Given the description of an element on the screen output the (x, y) to click on. 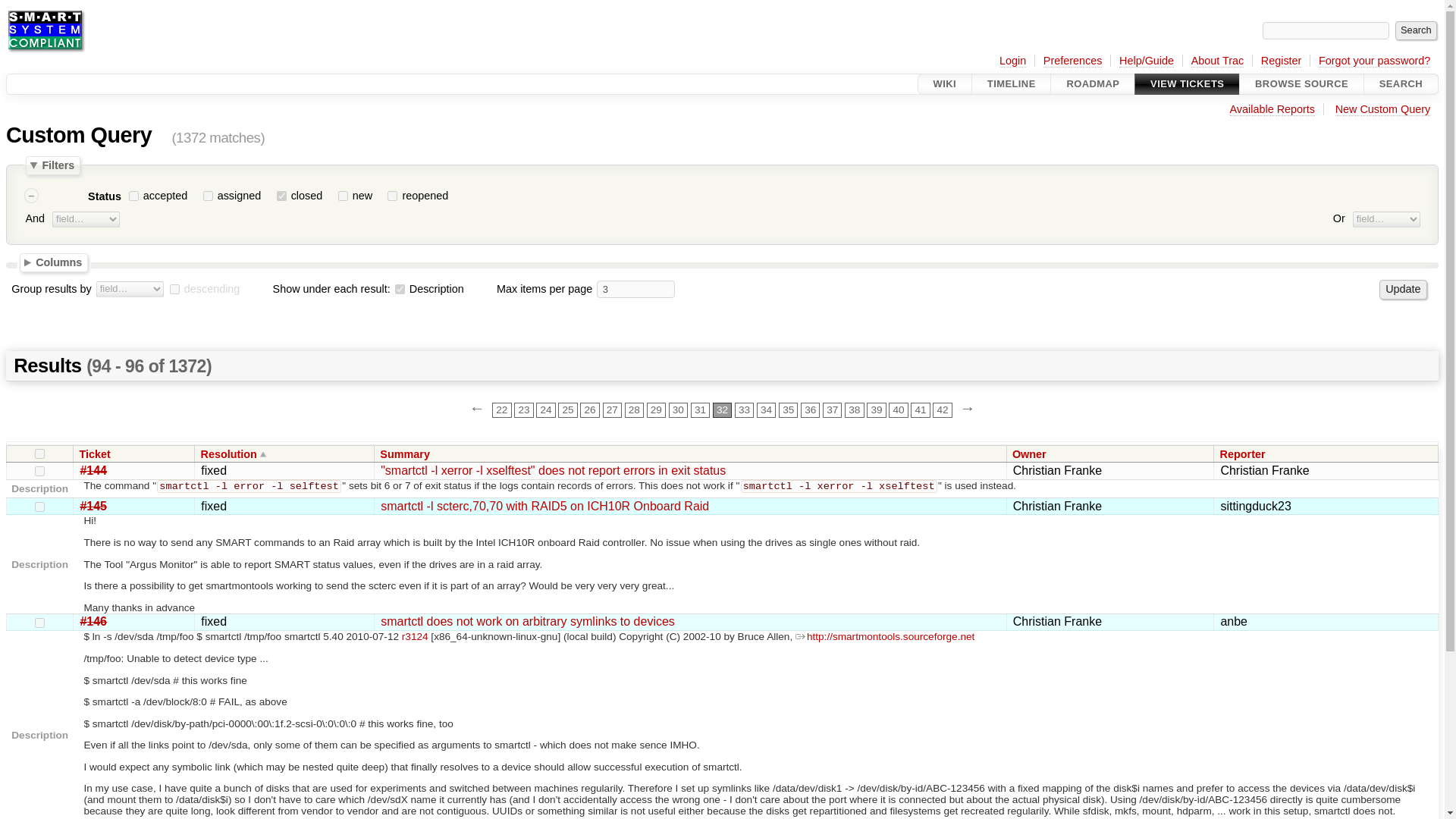
Page 33 (744, 409)
reopened (392, 195)
22 (501, 409)
accepted (133, 195)
on (39, 453)
Page 31 (700, 409)
new (342, 195)
40 (897, 409)
Page 23 (522, 409)
Page 30 (677, 409)
